Given the description of an element on the screen output the (x, y) to click on. 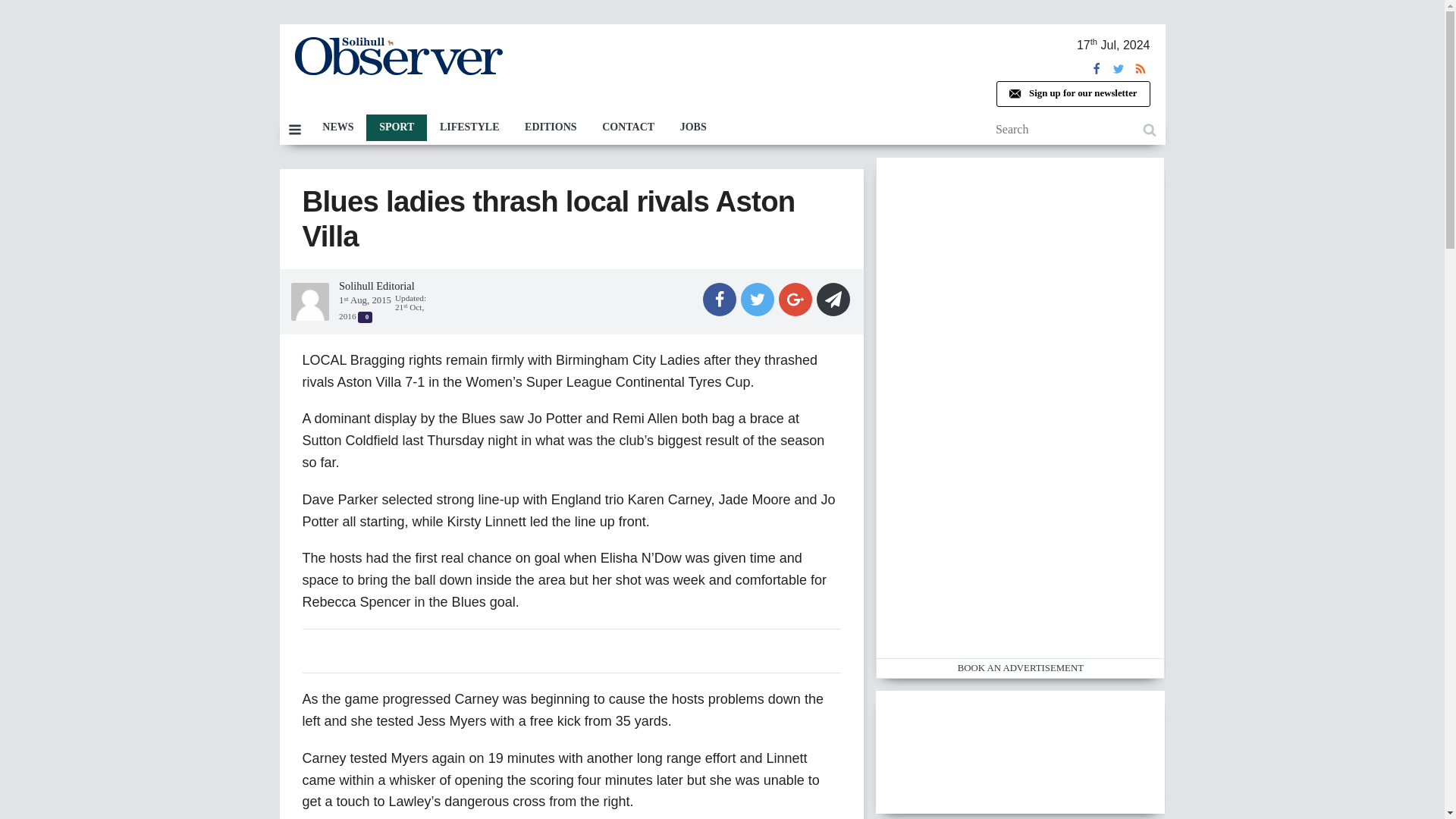
  Sign up for our newsletter (1072, 94)
EDITIONS (550, 127)
SPORT (396, 127)
CONTACT (627, 127)
The Solihull Observer (398, 55)
NEWS (337, 127)
LIFESTYLE (469, 127)
JOBS (692, 127)
